Given the description of an element on the screen output the (x, y) to click on. 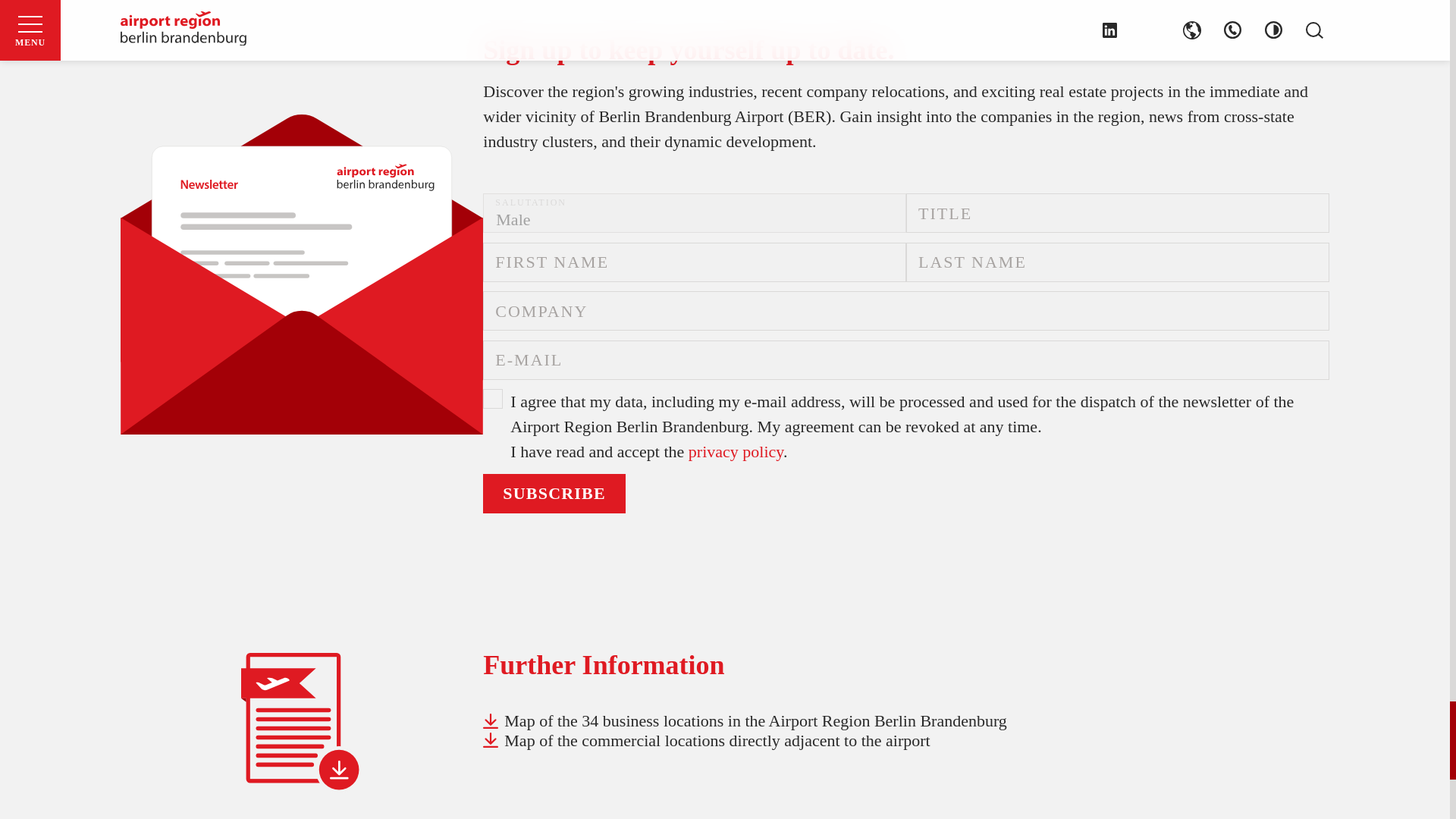
Subscribe (554, 493)
